Given the description of an element on the screen output the (x, y) to click on. 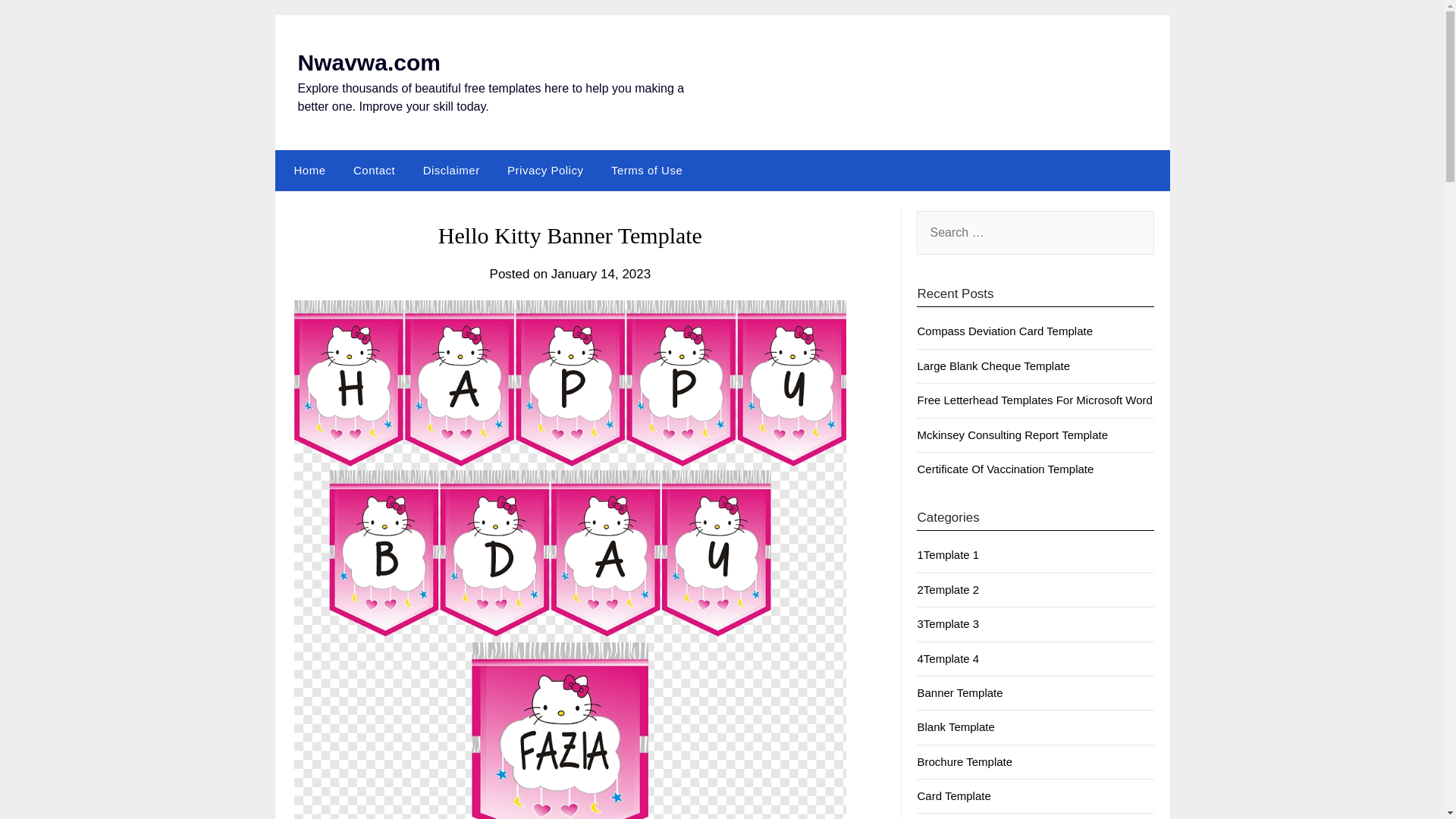
Privacy Policy (545, 169)
Card Template (953, 795)
Mckinsey Consulting Report Template (1012, 434)
Compass Deviation Card Template (1005, 330)
Brochure Template (964, 761)
Banner Template (960, 692)
Home (306, 169)
1Template 1 (947, 554)
Blank Template (955, 726)
Disclaimer (451, 169)
2Template 2 (947, 589)
Nwavwa.com (368, 62)
Free Letterhead Templates For Microsoft Word (1034, 399)
3Template 3 (947, 623)
Contact (373, 169)
